Given the description of an element on the screen output the (x, y) to click on. 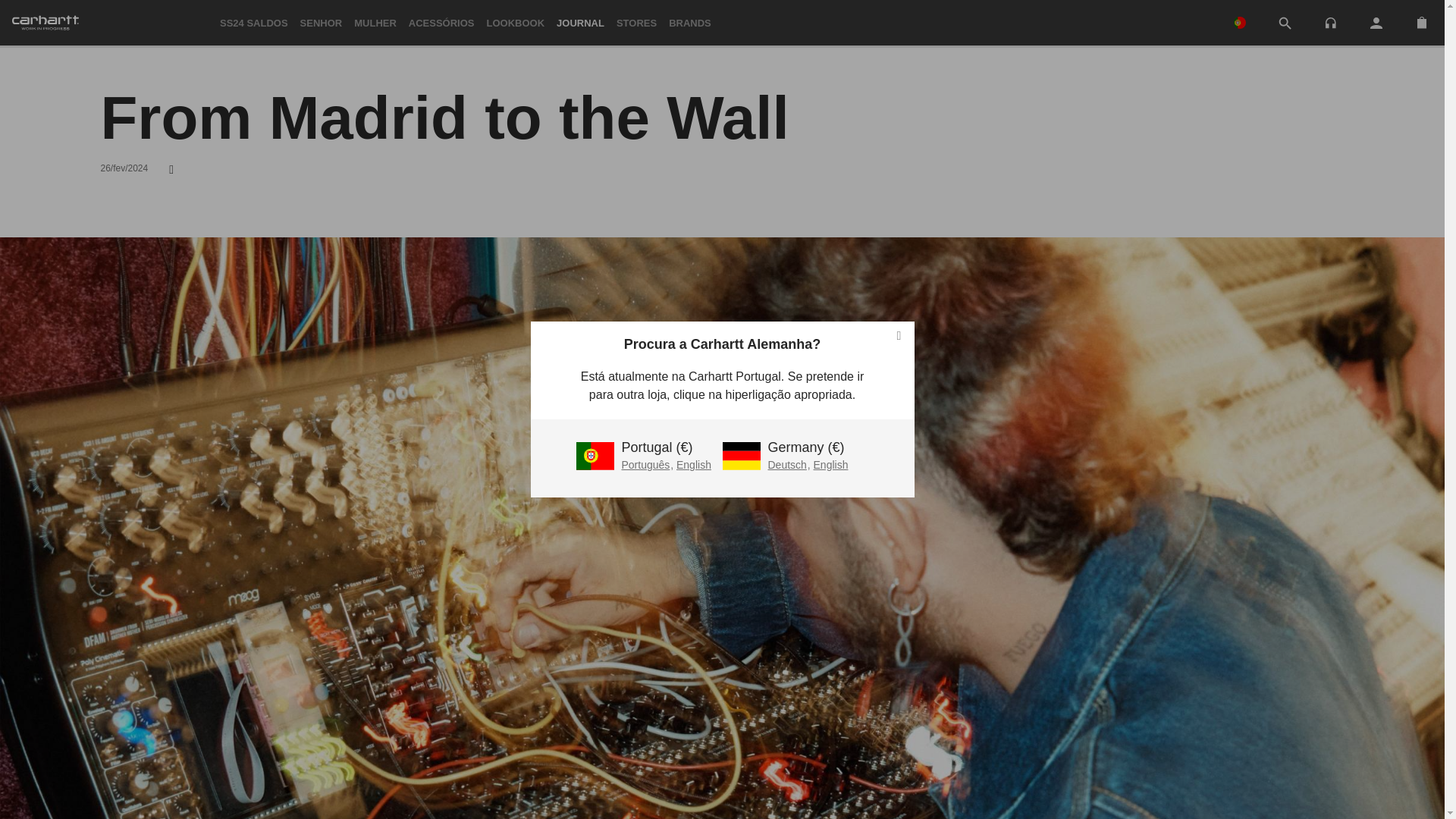
Radio (1330, 22)
Radio (1330, 21)
Pesquisa aqui (1284, 22)
Pesquisa aqui (1285, 23)
